Given the description of an element on the screen output the (x, y) to click on. 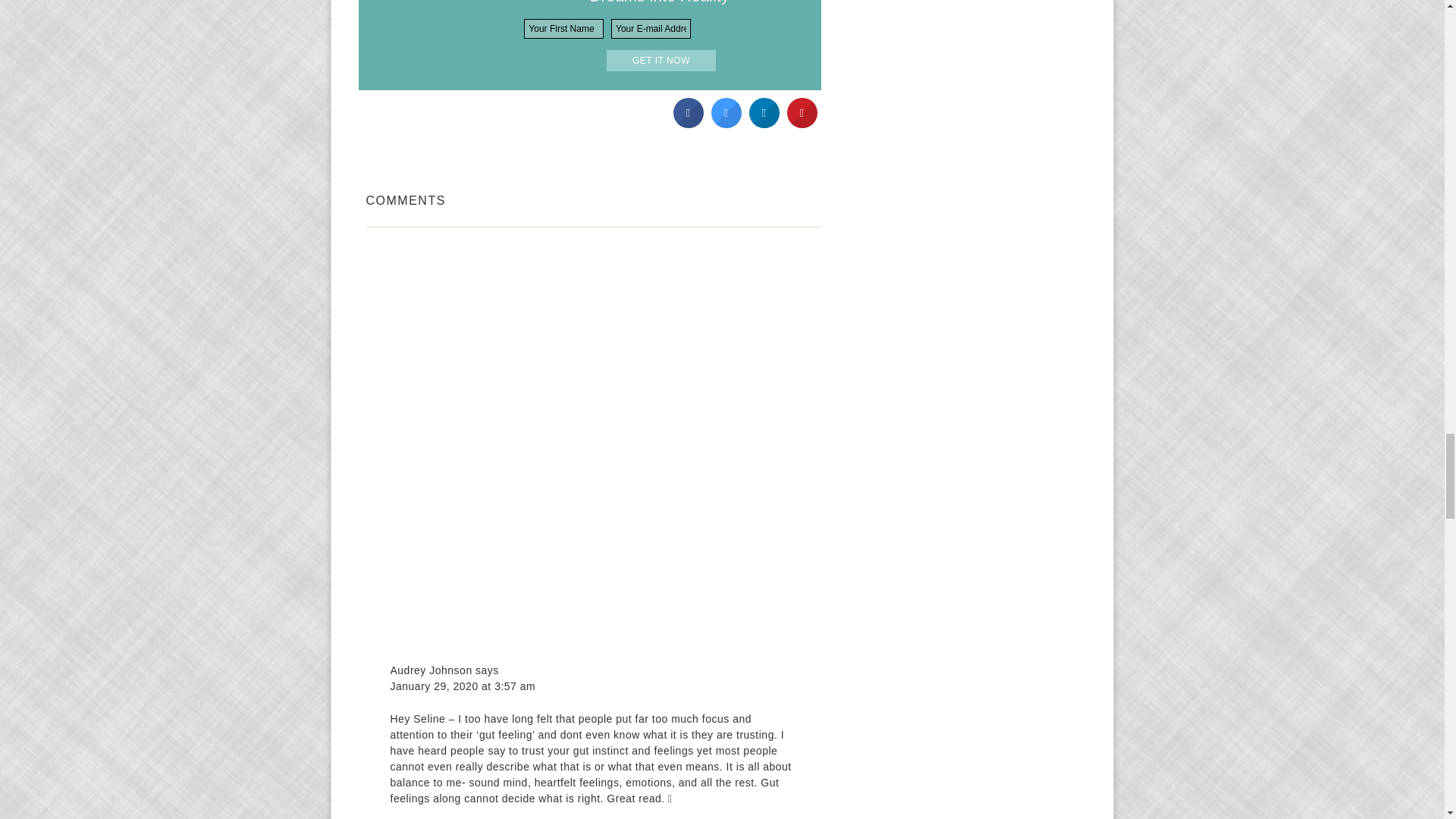
Share to LinkedIn (763, 123)
Share on Twitter (726, 123)
Share on Facebook (687, 123)
Get it now (661, 60)
Share on Pinterest (801, 123)
